Given the description of an element on the screen output the (x, y) to click on. 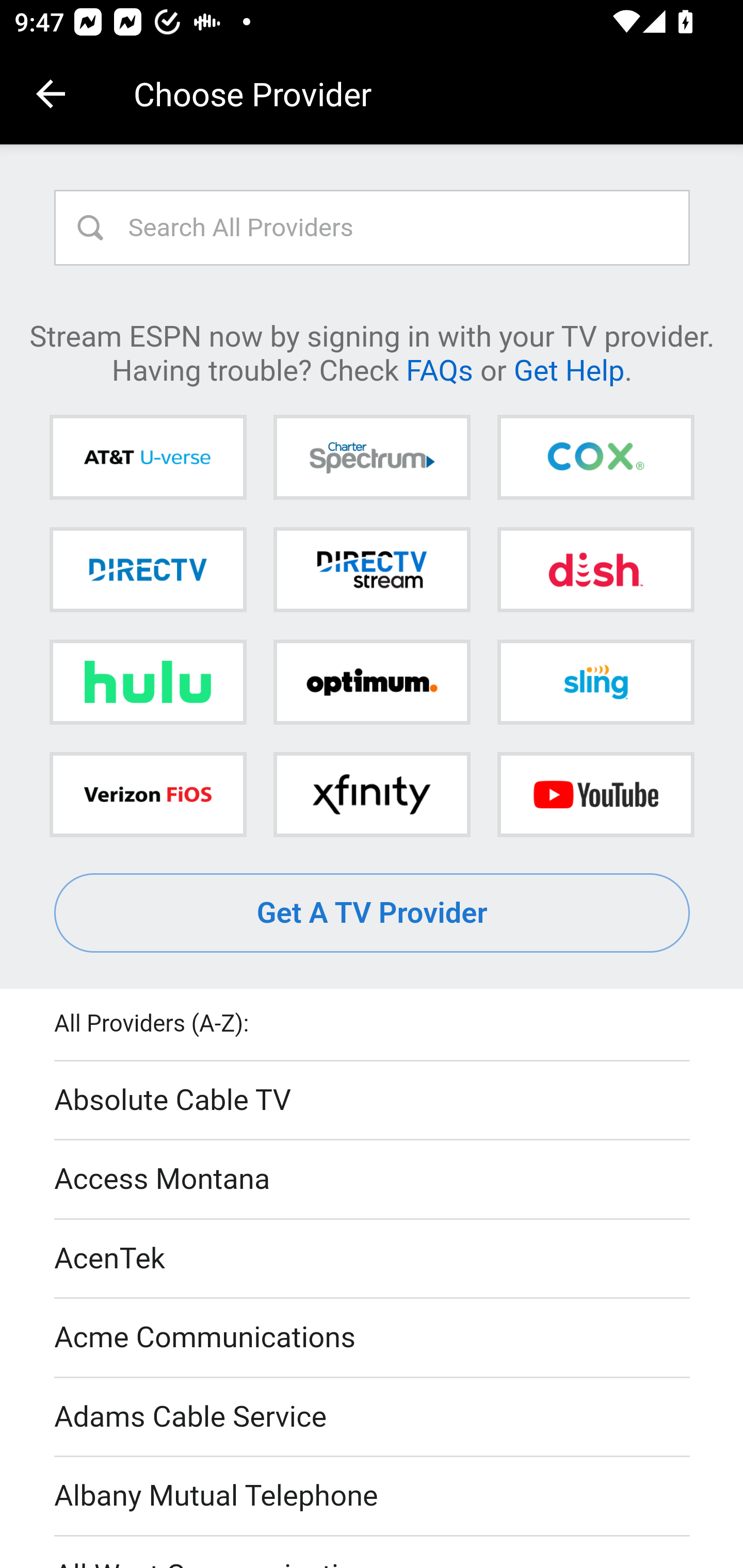
Navigate up (50, 93)
FAQs (438, 369)
Get Help (569, 369)
AT&T U-verse (147, 457)
Charter Spectrum (371, 457)
Cox (595, 457)
DIRECTV (147, 568)
DIRECTV STREAM (371, 568)
DISH (595, 568)
Hulu (147, 681)
Optimum (371, 681)
Sling TV (595, 681)
Verizon FiOS (147, 793)
Xfinity (371, 793)
YouTube TV (595, 793)
Get A TV Provider (372, 912)
Absolute Cable TV (372, 1100)
Access Montana (372, 1178)
AcenTek (372, 1258)
Acme Communications (372, 1338)
Adams Cable Service (372, 1417)
Albany Mutual Telephone (372, 1497)
